Given the description of an element on the screen output the (x, y) to click on. 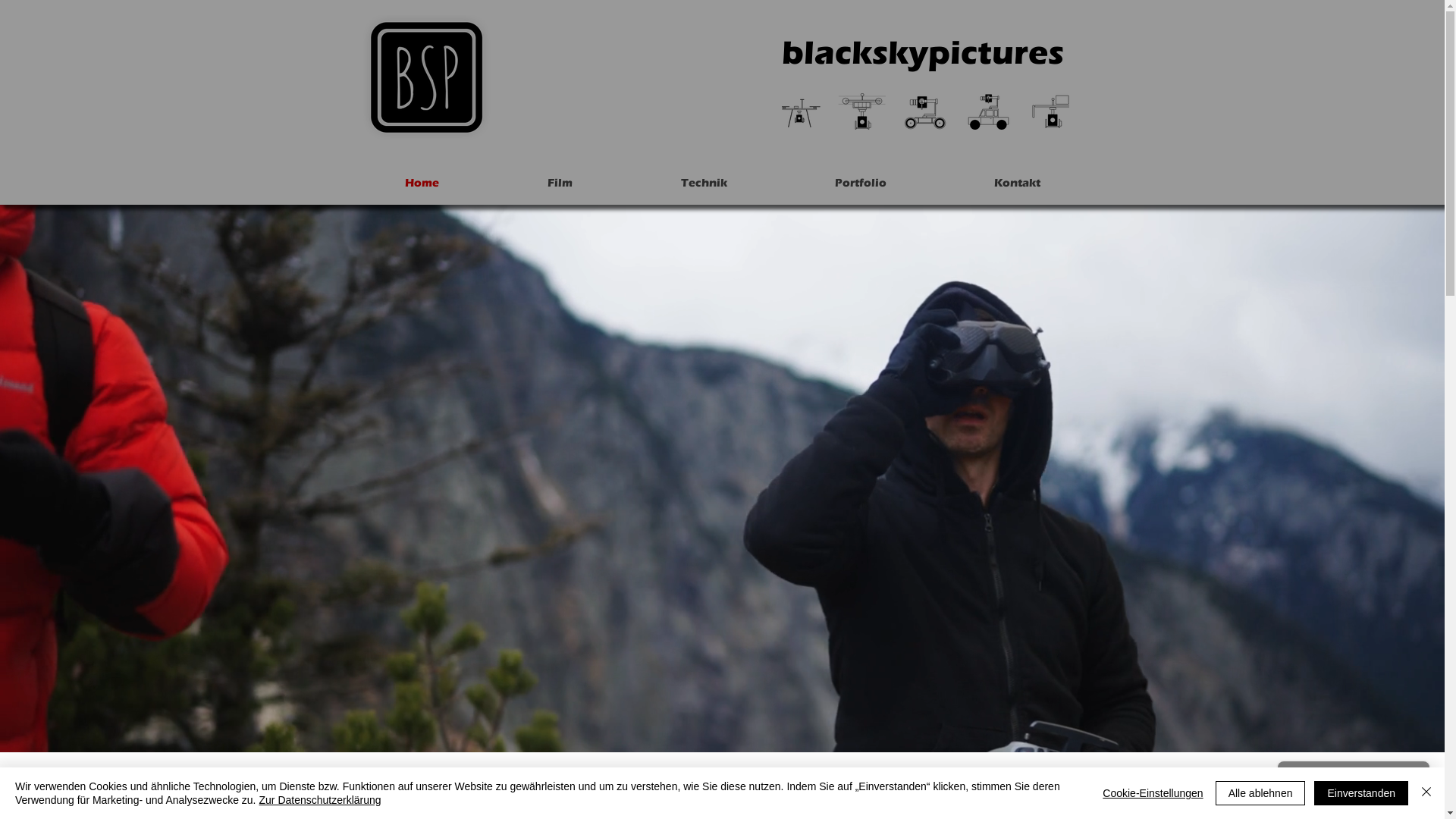
Film Element type: text (559, 182)
filmaufnahmen_blackskypictures Element type: hover (924, 111)
Einverstanden Element type: text (1361, 793)
Kontakt Element type: text (1017, 182)
Portfolio Element type: text (860, 182)
Home Element type: text (421, 182)
Technik Element type: text (703, 182)
Alle ablehnen Element type: text (1260, 793)
